Given the description of an element on the screen output the (x, y) to click on. 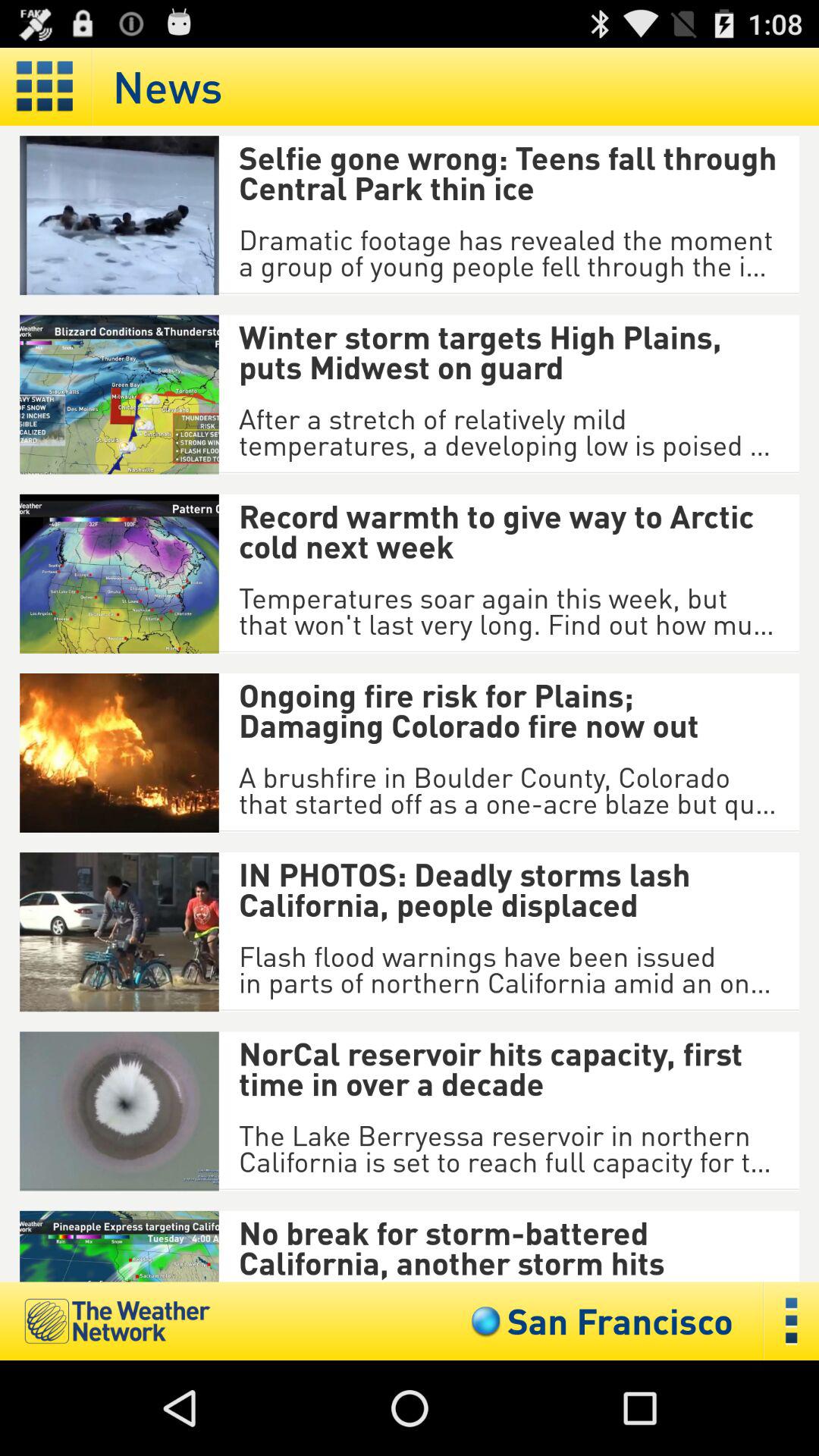
display in a grid (45, 86)
